Given the description of an element on the screen output the (x, y) to click on. 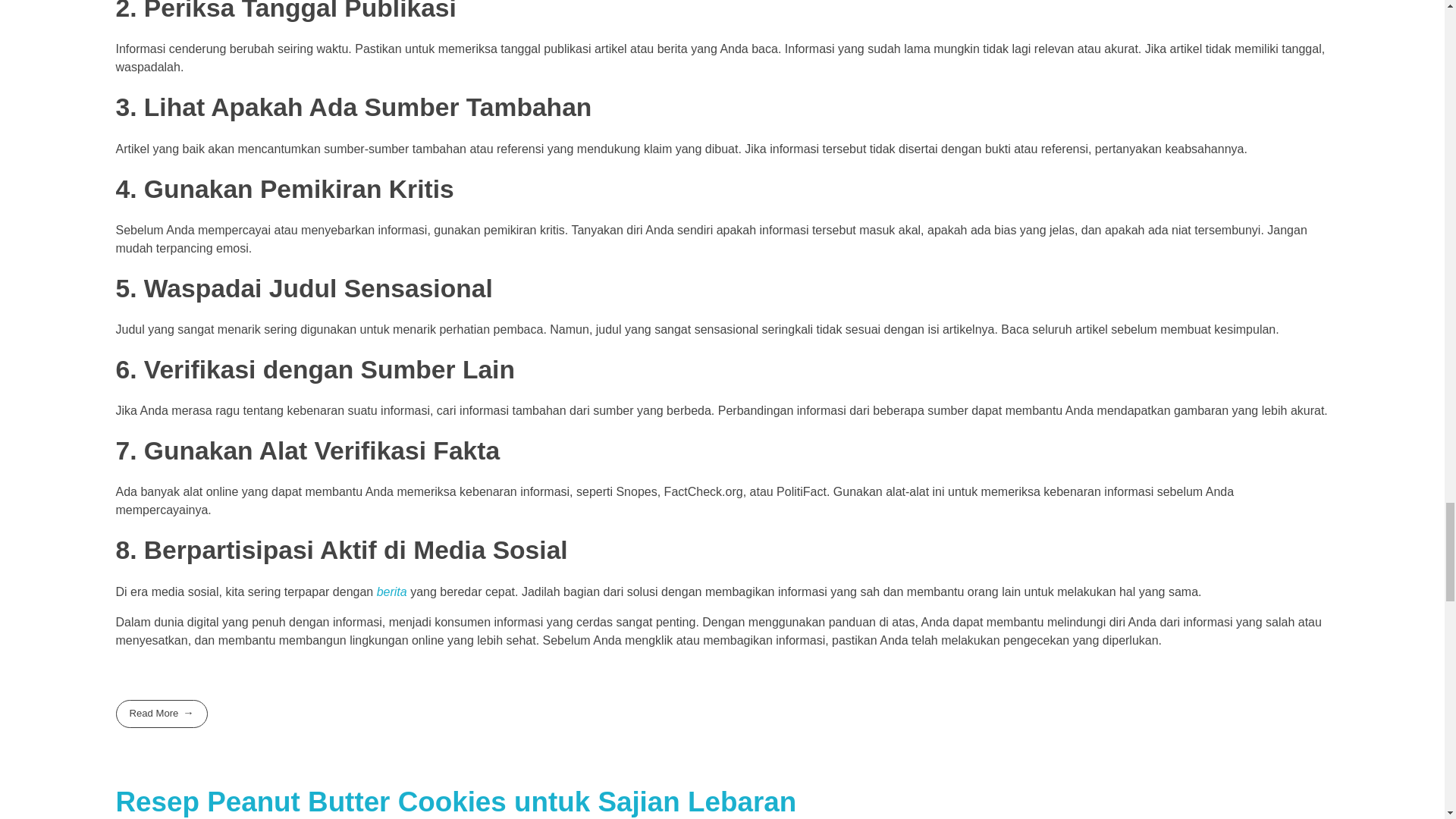
Resep Peanut Butter Cookies untuk Sajian Lebaran (455, 801)
berita (392, 591)
Read More (160, 714)
